Given the description of an element on the screen output the (x, y) to click on. 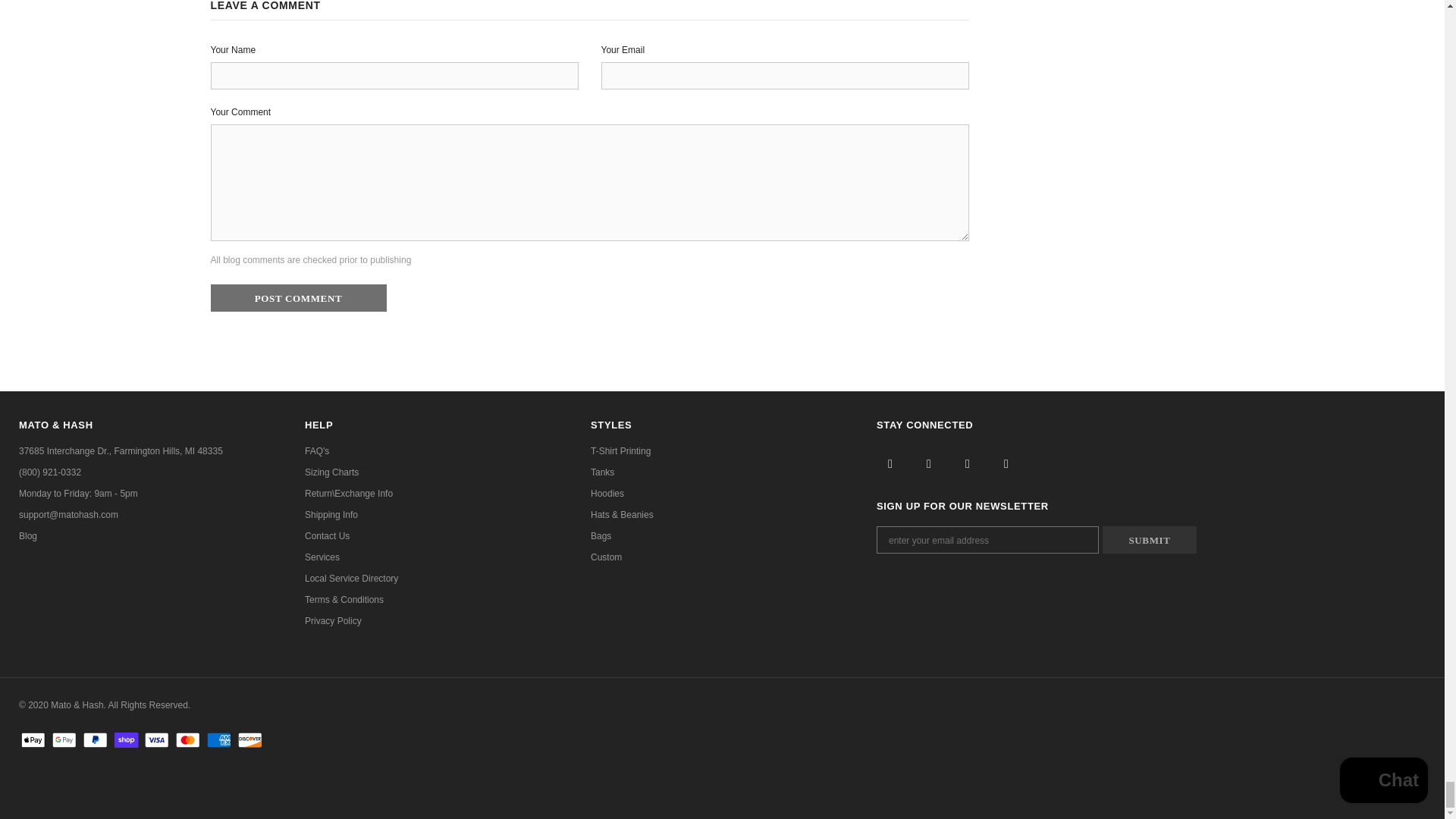
PayPal (95, 739)
Submit (1149, 539)
Visa (156, 739)
Apple Pay (33, 739)
Google Pay (63, 739)
Discover (249, 739)
Mastercard (187, 739)
American Express (218, 739)
Shop Pay (126, 739)
Post comment (299, 298)
